Given the description of an element on the screen output the (x, y) to click on. 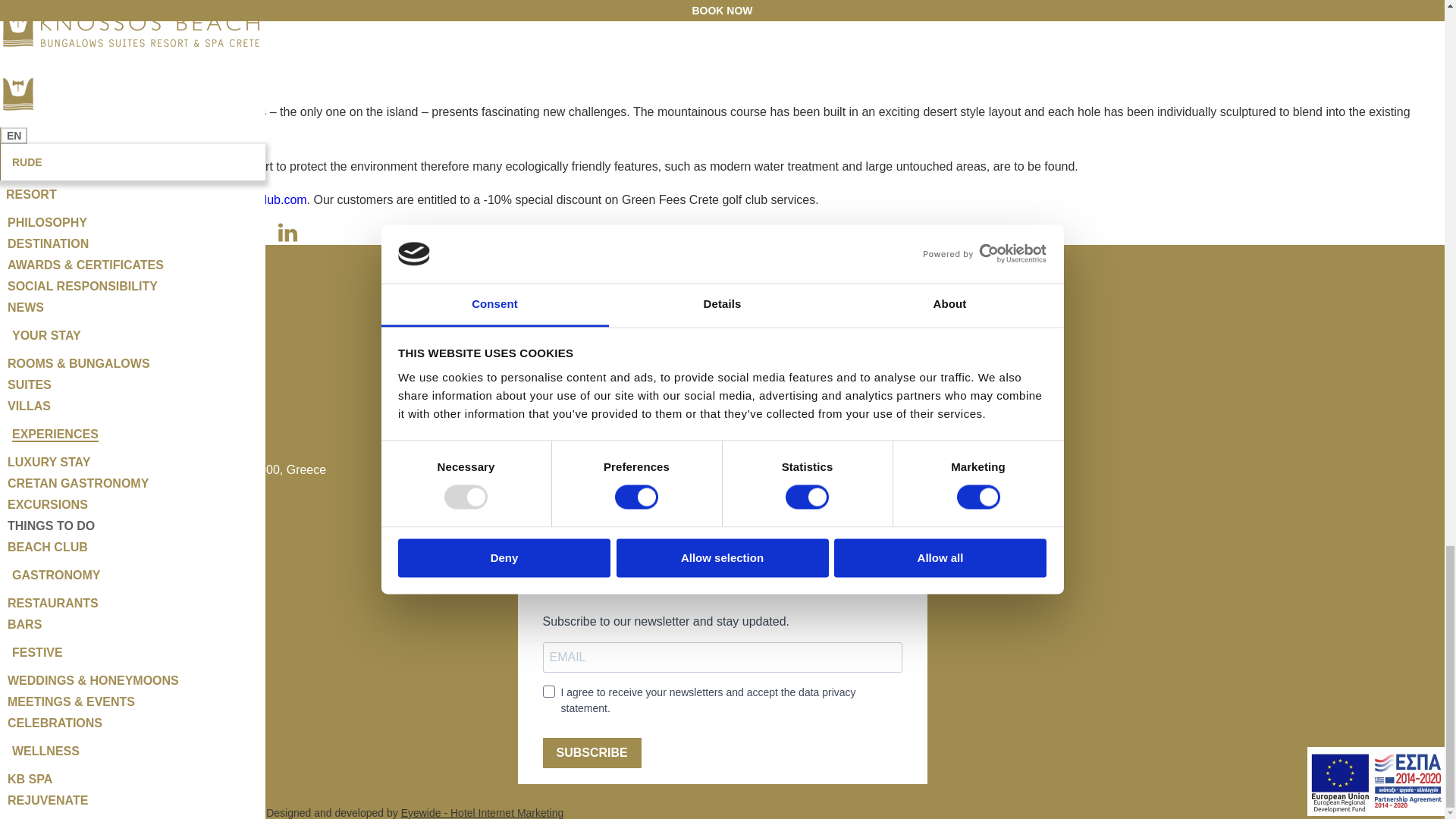
Crete Golf (73, 111)
